Given the description of an element on the screen output the (x, y) to click on. 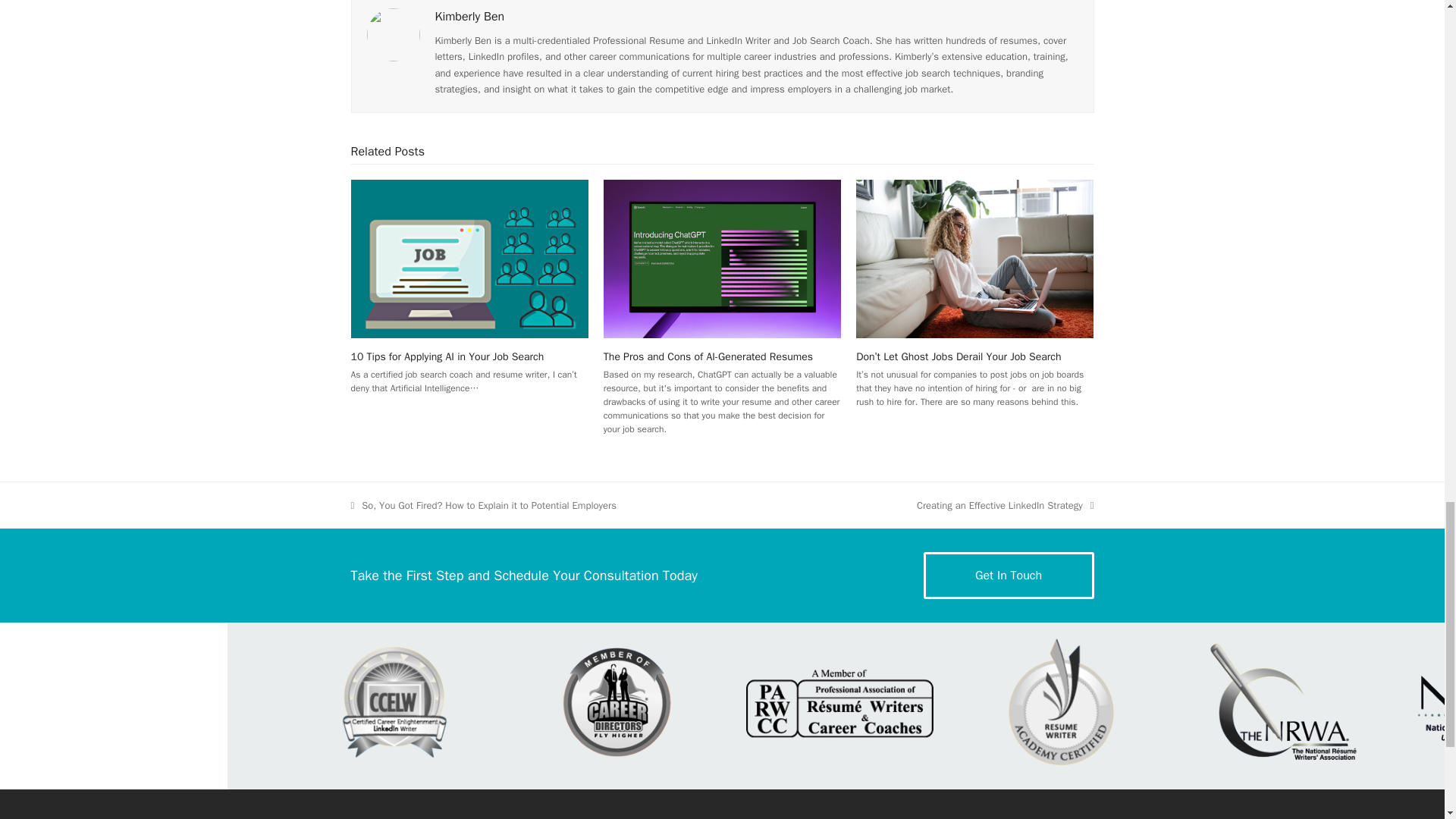
Kimberly Ben (470, 16)
Visit Author Page (393, 33)
10 Tips for Applying AI in Your Job Search (1005, 505)
The Pros and Cons of AI-Generated Resumes (469, 257)
The Pros and Cons of AI-Generated Resumes (722, 257)
Visit Author Page (708, 356)
Get In Touch (470, 16)
10 Tips for Applying AI in Your Job Search (1008, 575)
